Given the description of an element on the screen output the (x, y) to click on. 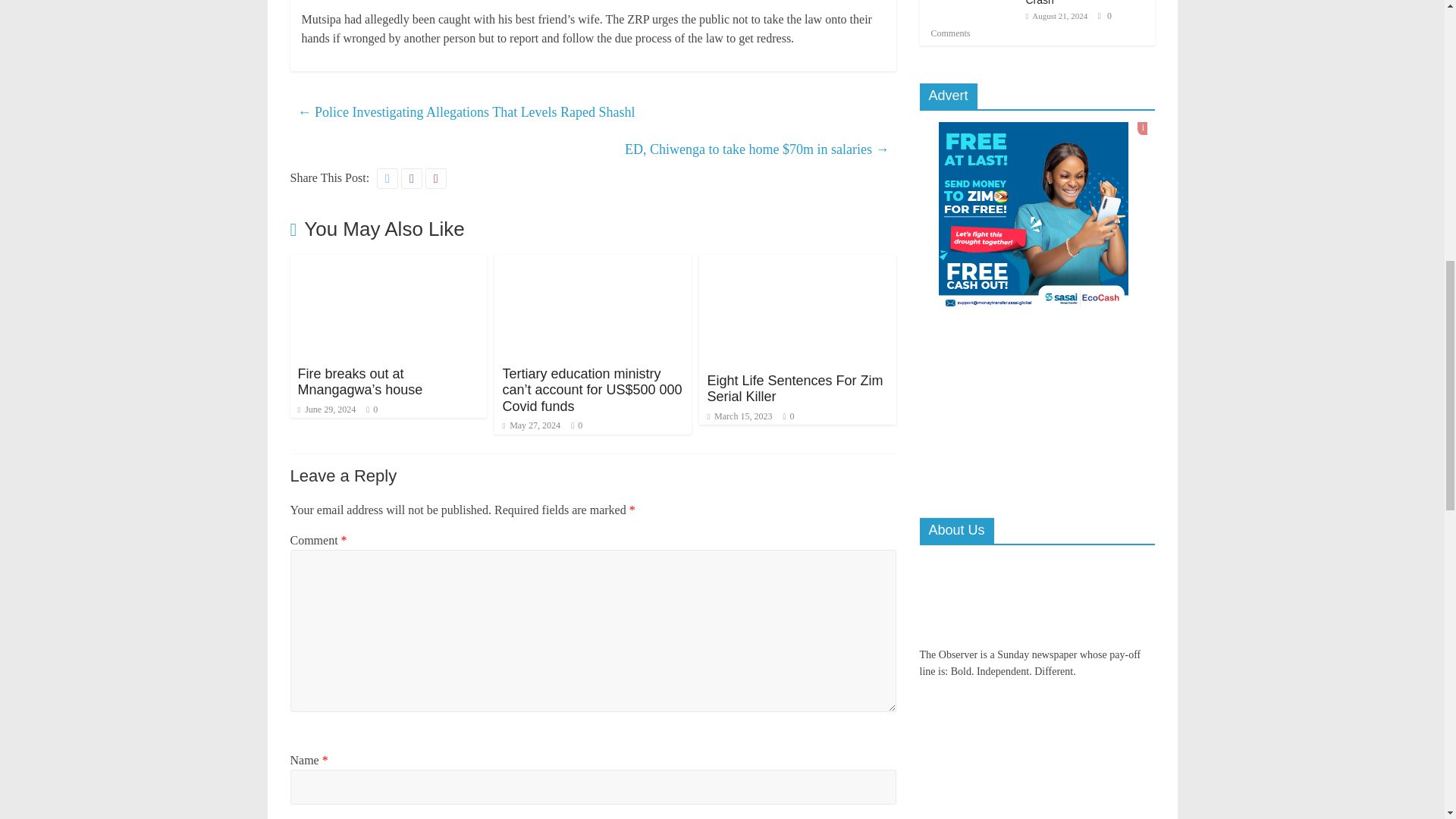
11:20 am (326, 409)
March 15, 2023 (738, 416)
June 29, 2024 (326, 409)
May 27, 2024 (531, 425)
Eight Life Sentences For Zim Serial Killer (794, 388)
